Given the description of an element on the screen output the (x, y) to click on. 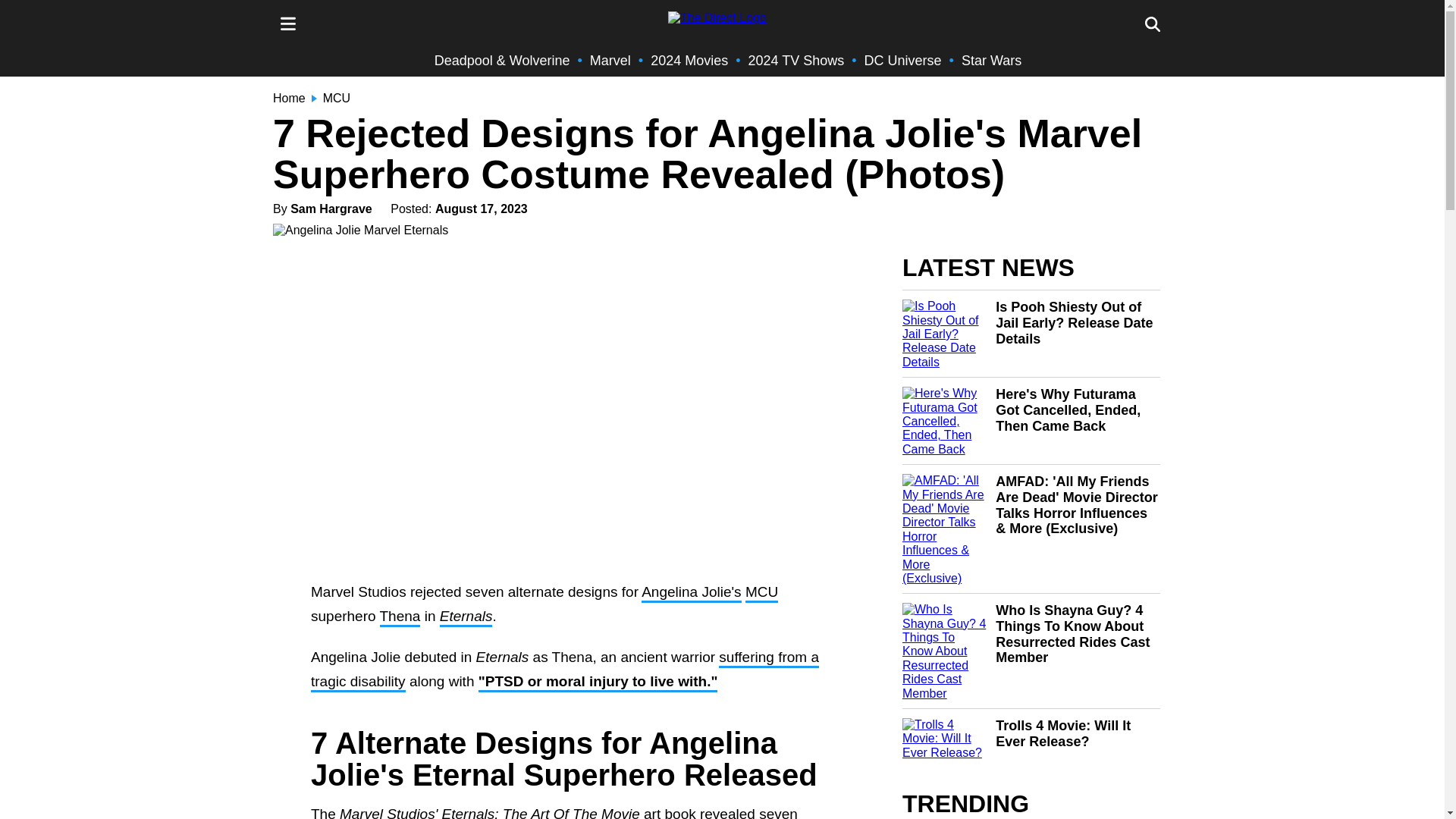
2024 Movies (689, 60)
Star Wars (991, 60)
DC Universe (903, 60)
Marvel (609, 60)
2024 TV Shows (796, 60)
